Given the description of an element on the screen output the (x, y) to click on. 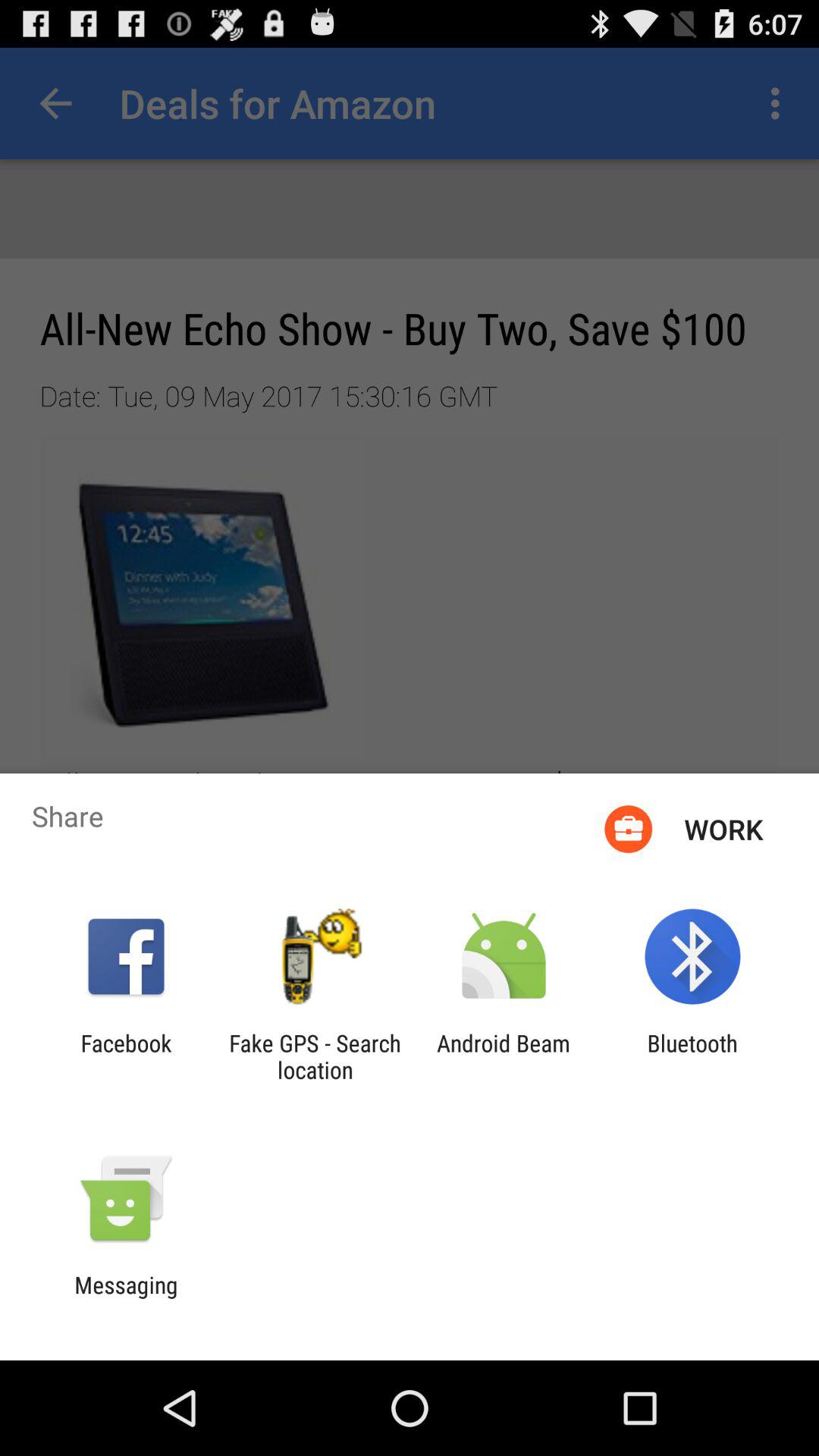
press fake gps search item (314, 1056)
